Given the description of an element on the screen output the (x, y) to click on. 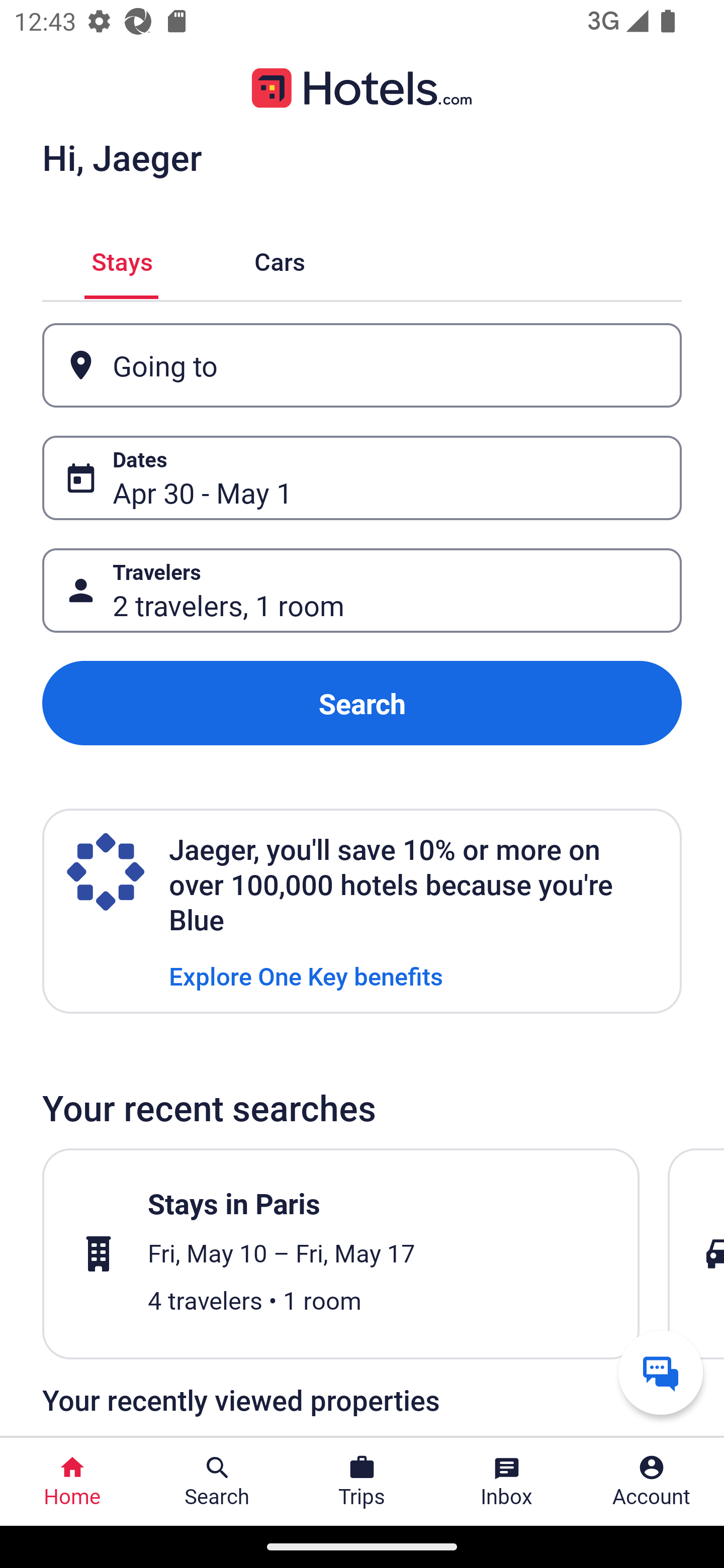
Hi, Jaeger (121, 156)
Cars (279, 259)
Going to Button (361, 365)
Dates Button Apr 30 - May 1 (361, 477)
Travelers Button 2 travelers, 1 room (361, 590)
Search (361, 702)
Get help from a virtual agent (660, 1371)
Search Search Button (216, 1481)
Trips Trips Button (361, 1481)
Inbox Inbox Button (506, 1481)
Account Profile. Button (651, 1481)
